Given the description of an element on the screen output the (x, y) to click on. 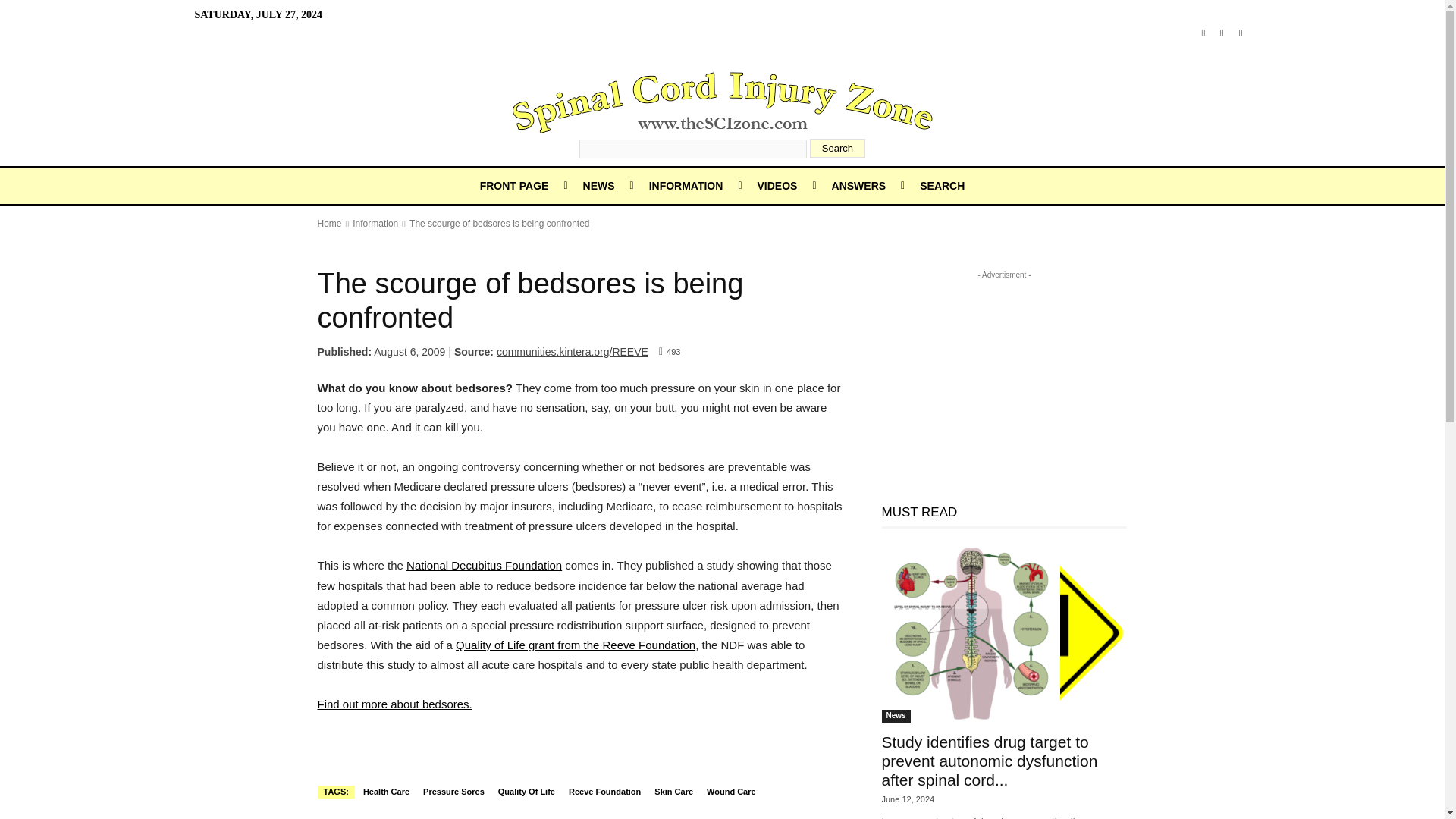
Pressure Sores (453, 791)
Wound Care (731, 791)
NEWS (598, 185)
ANSWERS (858, 185)
National Decubitus Foundation (484, 564)
Skin Care (673, 791)
Facebook (1202, 33)
Quality Of Life (526, 791)
FRONT PAGE (514, 185)
Information (374, 223)
Search (836, 148)
RSS (1221, 33)
